Given the description of an element on the screen output the (x, y) to click on. 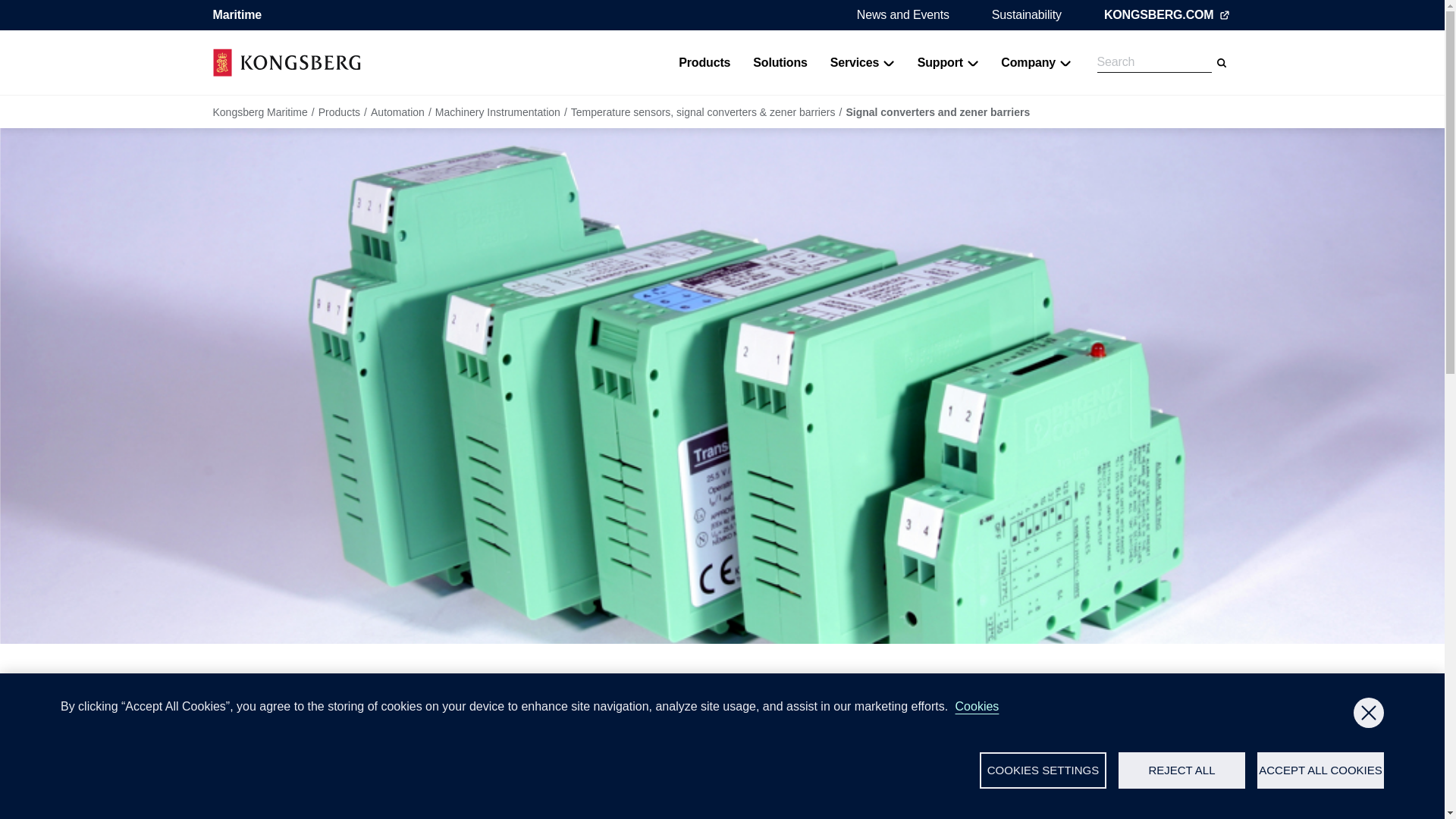
Solutions (779, 62)
Services (862, 62)
Support (948, 62)
KONGSBERG.COM (1167, 14)
Products (704, 62)
Sustainability (1026, 14)
News and Events (903, 14)
Company (1035, 62)
Kongsberg Maritime (285, 62)
